Given the description of an element on the screen output the (x, y) to click on. 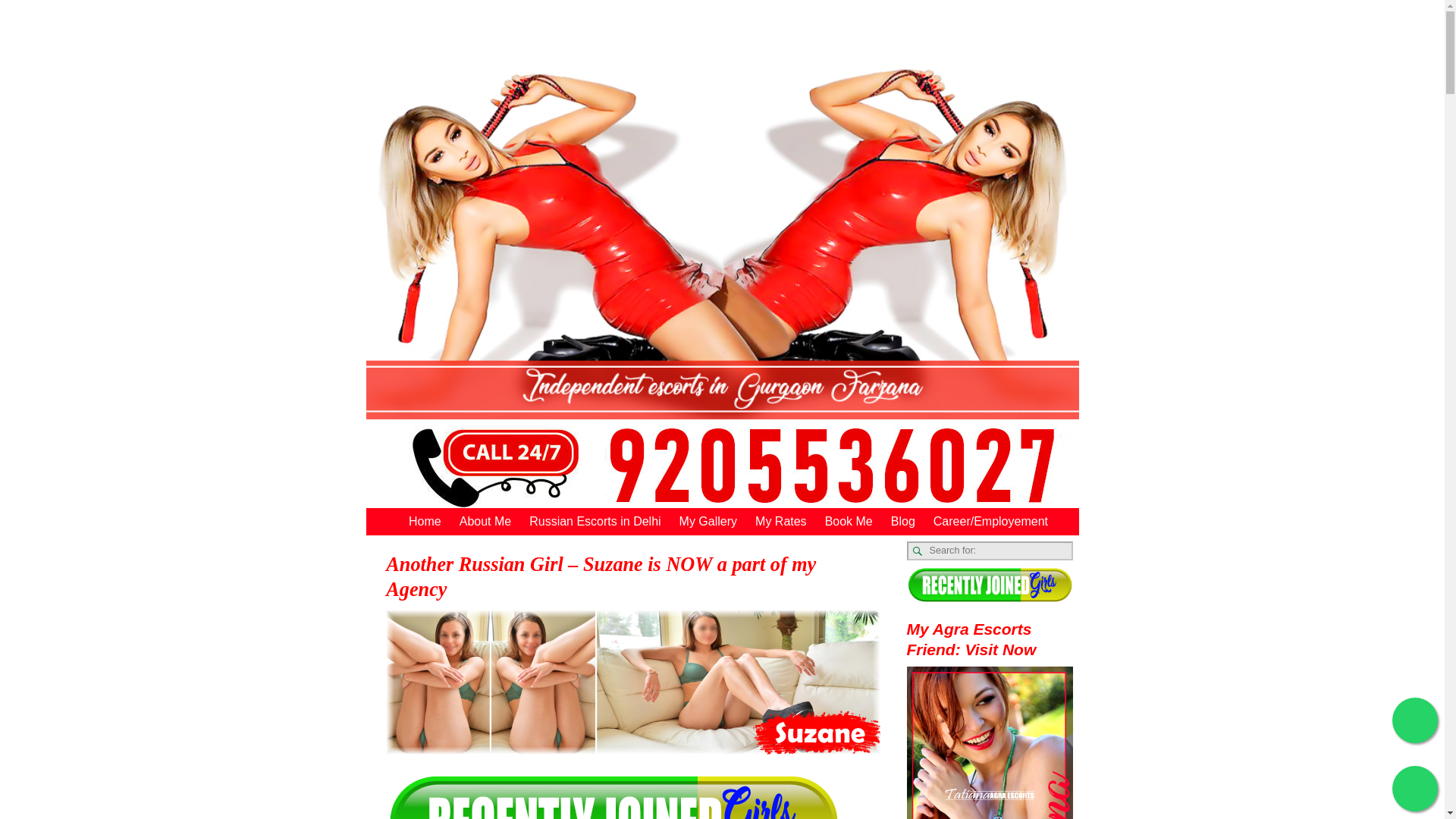
Blog (903, 520)
Russian Escorts in Gurgaon, Delhi (643, 15)
My Gallery (707, 520)
Suzane (632, 749)
About Me (484, 520)
My Rates (780, 520)
Book Me (848, 520)
Russian Escorts in Delhi (594, 520)
Russian Escorts in Gurgaon, Delhi (643, 15)
Home (423, 520)
